Given the description of an element on the screen output the (x, y) to click on. 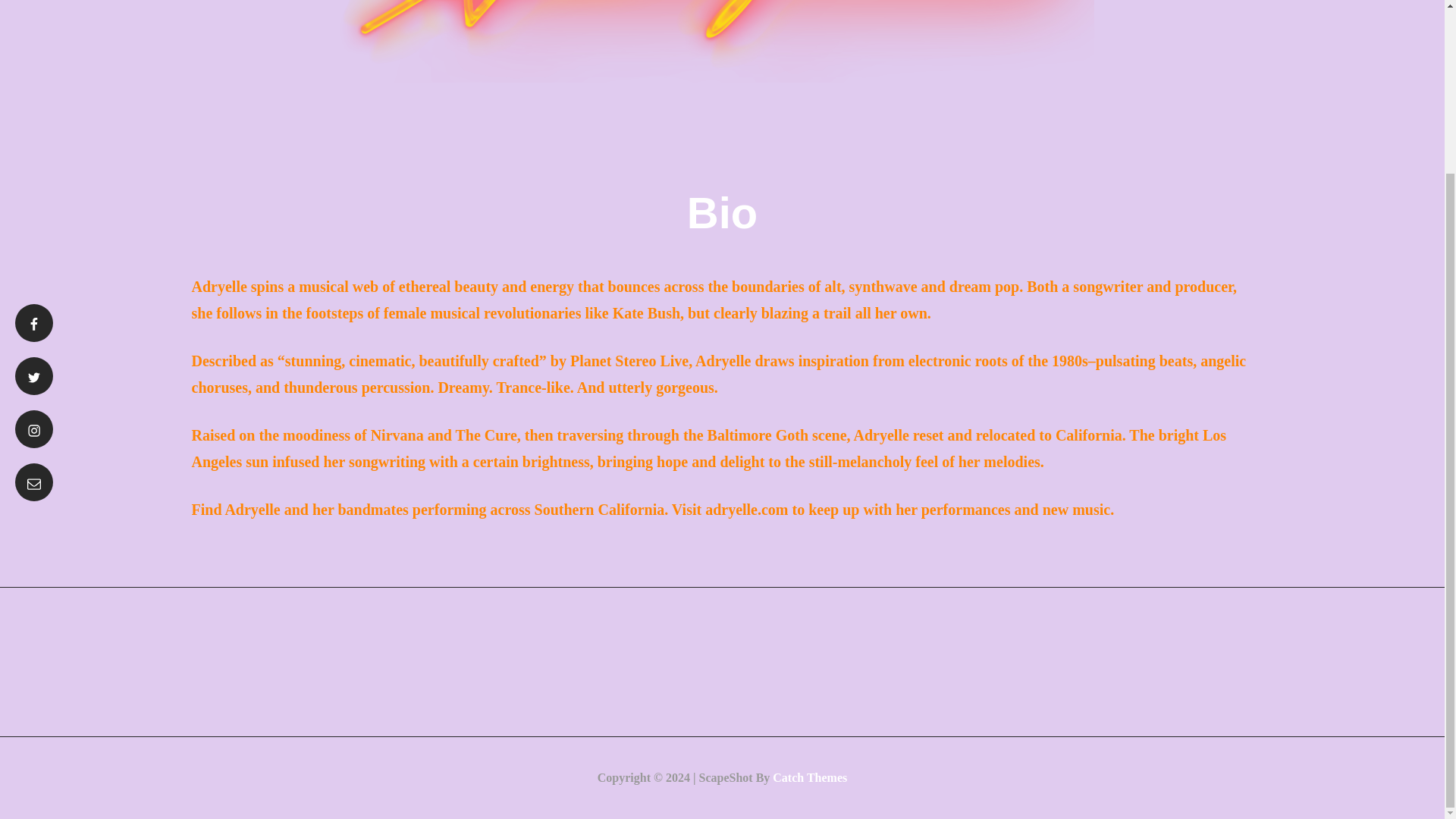
Twitter (33, 375)
Catch Themes (810, 777)
Instagram (33, 428)
Email (33, 482)
Facebook (33, 322)
